Given the description of an element on the screen output the (x, y) to click on. 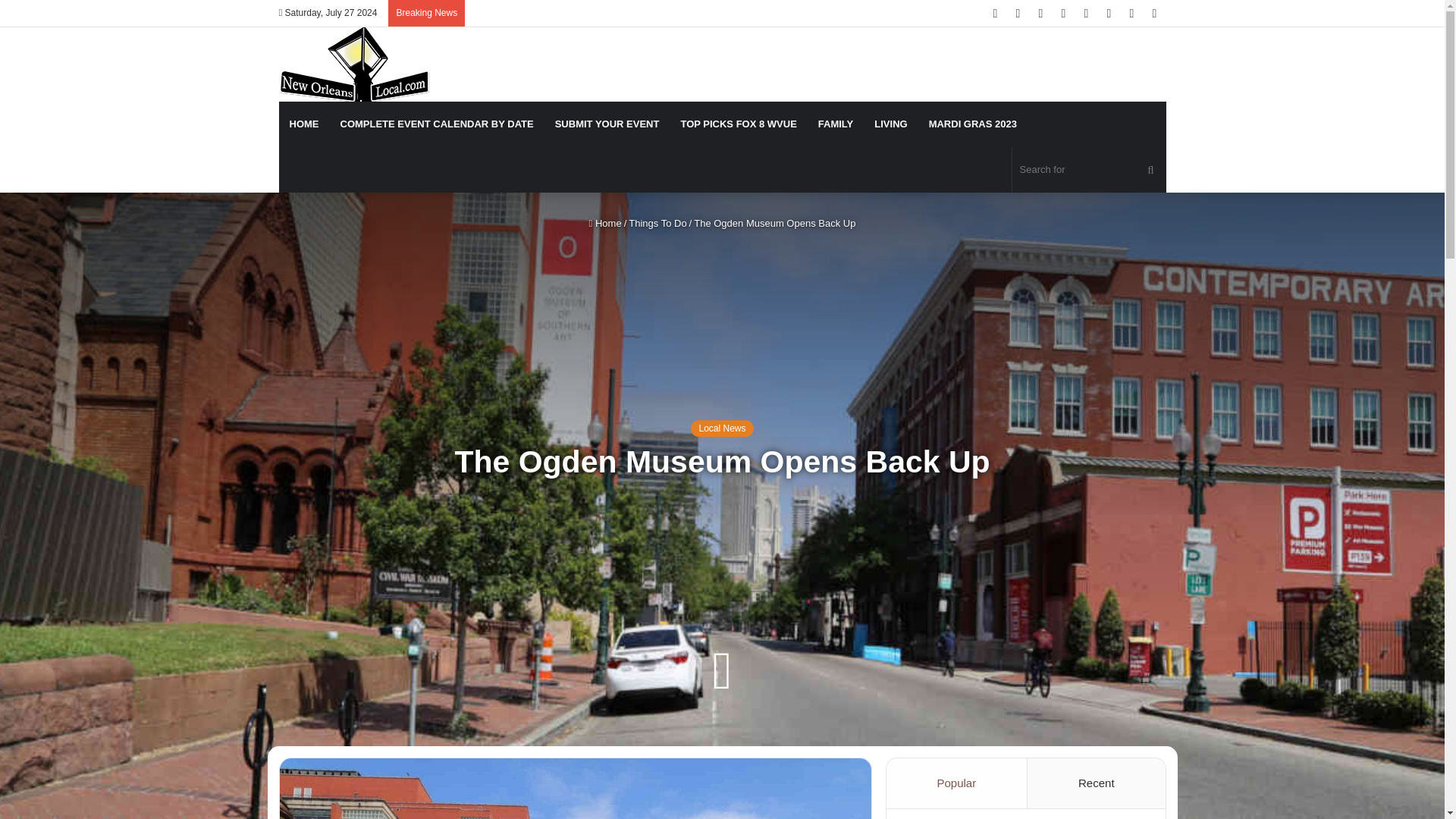
MARDI GRAS 2023 (972, 124)
SUBMIT YOUR EVENT (606, 124)
Things To Do (656, 223)
Search for (1088, 169)
HOME (304, 124)
New Orleans Local News and Events (354, 64)
Home (605, 223)
LIVING (890, 124)
FAMILY (835, 124)
Local News (721, 428)
TOP PICKS FOX 8 WVUE (737, 124)
COMPLETE EVENT CALENDAR BY DATE (436, 124)
